Given the description of an element on the screen output the (x, y) to click on. 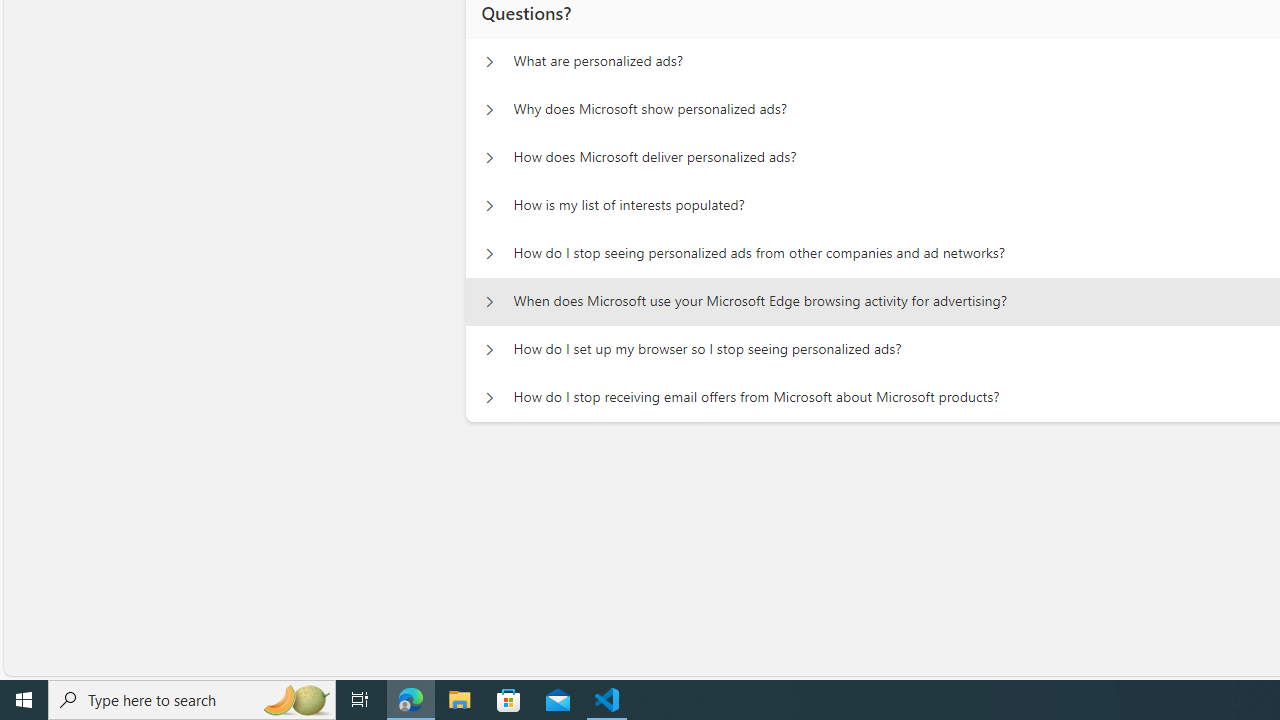
Questions? Why does Microsoft show personalized ads? (489, 110)
Questions? What are personalized ads? (489, 62)
Questions? How does Microsoft deliver personalized ads? (489, 157)
Questions? How is my list of interests populated? (489, 206)
